Given the description of an element on the screen output the (x, y) to click on. 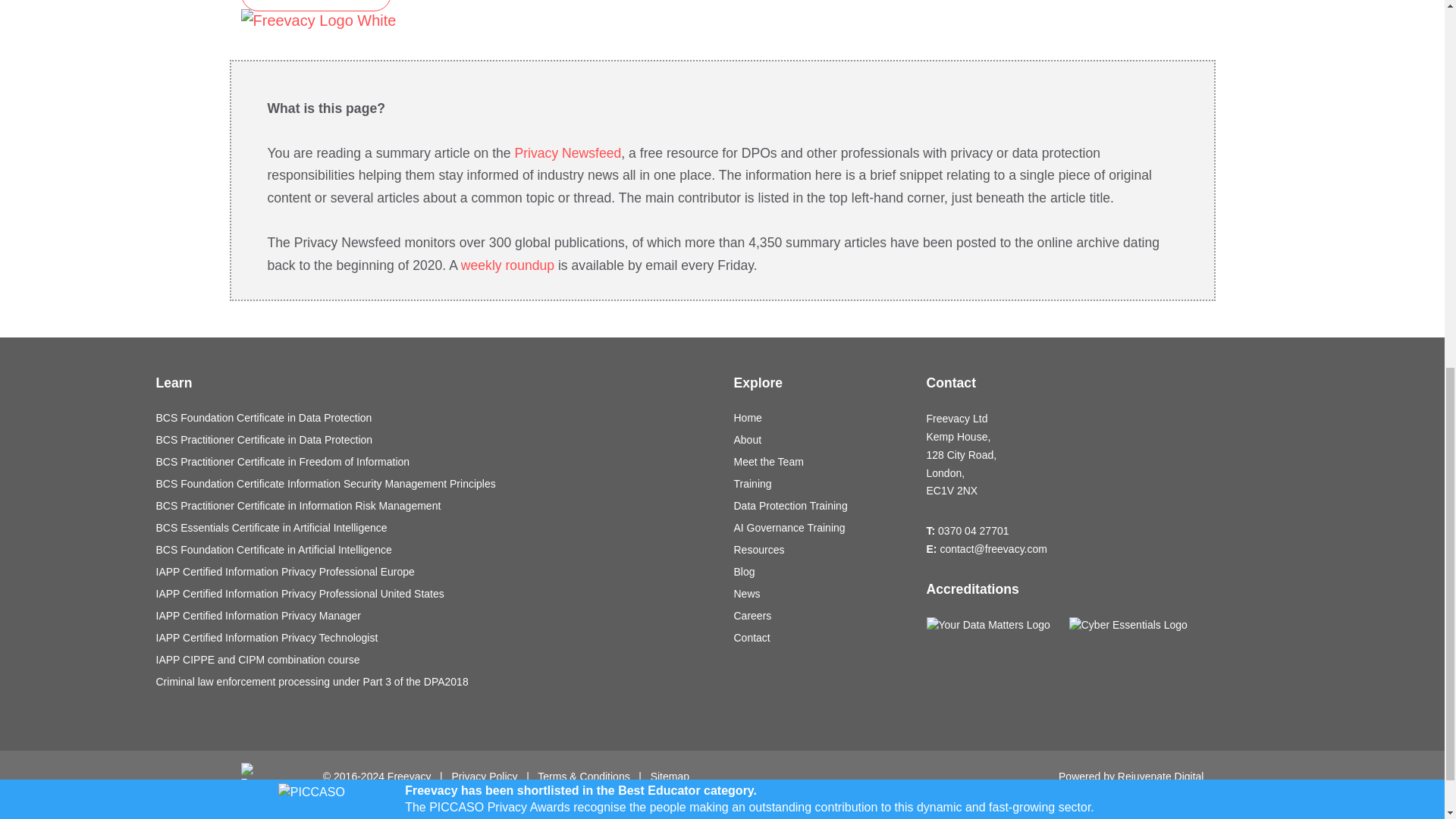
BCS Practitioner Certificate in Data Protection (433, 439)
About (818, 439)
Home (818, 417)
Meet the Team (818, 462)
BCS Foundation Certificate in Data Protection (433, 417)
IAPP Certified Information Privacy Manager (433, 616)
BCS Essentials Certificate in Artificial Intelligence (433, 528)
IAPP Certified Information Privacy Professional Europe (433, 571)
BACK TO NEWS (316, 5)
